Given the description of an element on the screen output the (x, y) to click on. 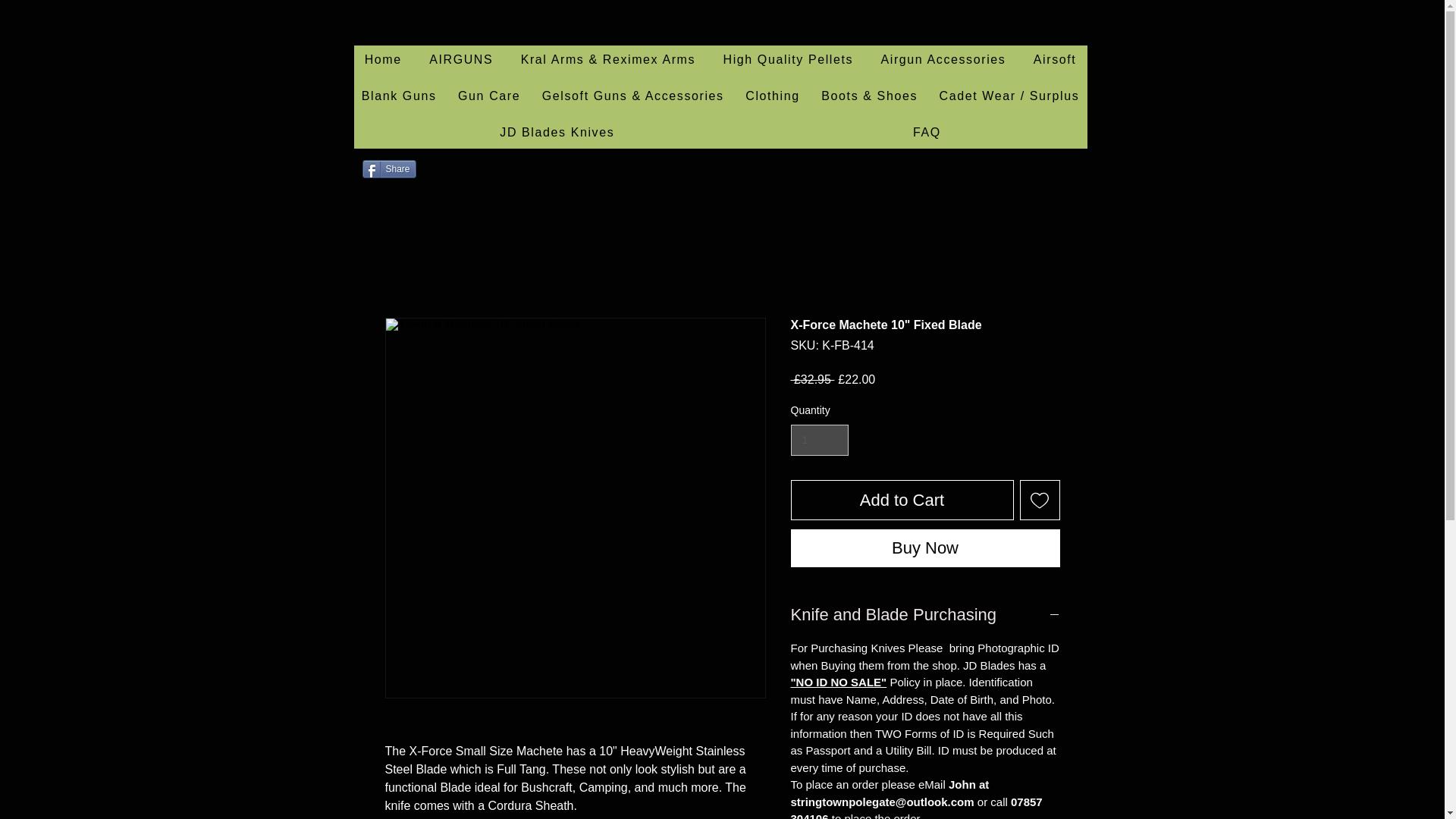
High Quality Pellets (787, 60)
Clothing (773, 96)
Airgun Accessories (942, 60)
1 (818, 440)
Blank Guns (398, 96)
Gun Care (488, 96)
JD Blades Knives (556, 132)
Share (389, 168)
Knife and Blade Purchasing (924, 615)
Home (382, 60)
Share (389, 168)
Airsoft (1055, 60)
AIRGUNS (461, 60)
Buy Now (924, 548)
Add to Cart (901, 499)
